Given the description of an element on the screen output the (x, y) to click on. 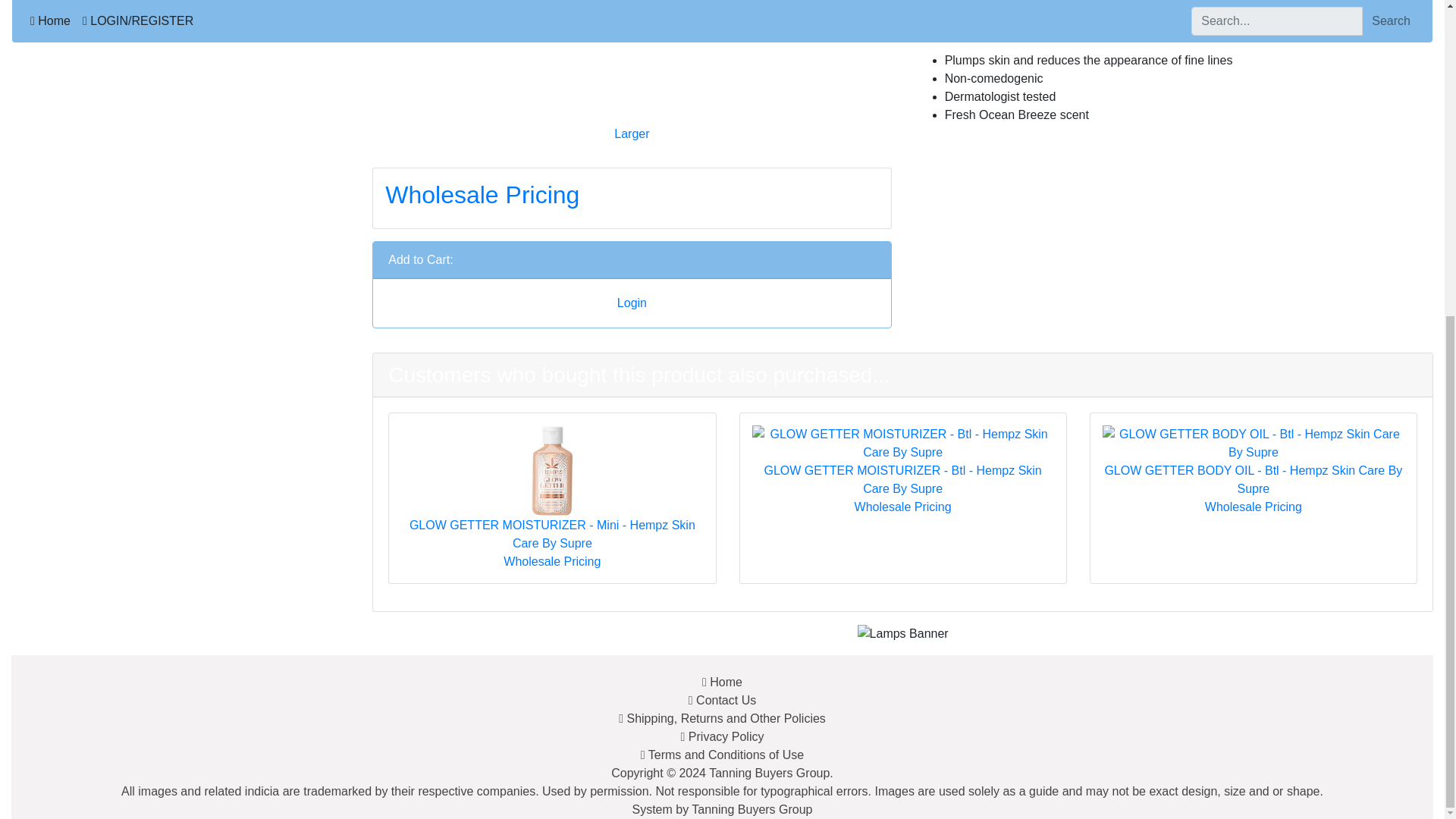
GLOW GETTER BODY OIL - Btl - Hempz Skin Care By Supre (1253, 443)
Lamps Banner (903, 633)
GLOW GETTER BODY OIL - Btl - Hempz Skin Care By Supre (1253, 442)
GLOW GETTER MOISTURIZER - Btl - Hempz Skin Care By Supre (903, 442)
GLOW GETTER MOISTURIZER - Btl - Hempz Skin Care By Supre (903, 443)
GLOW GETTER MOISTURIZER - Mini - Hempz Skin Care By Supre (552, 470)
